Given the description of an element on the screen output the (x, y) to click on. 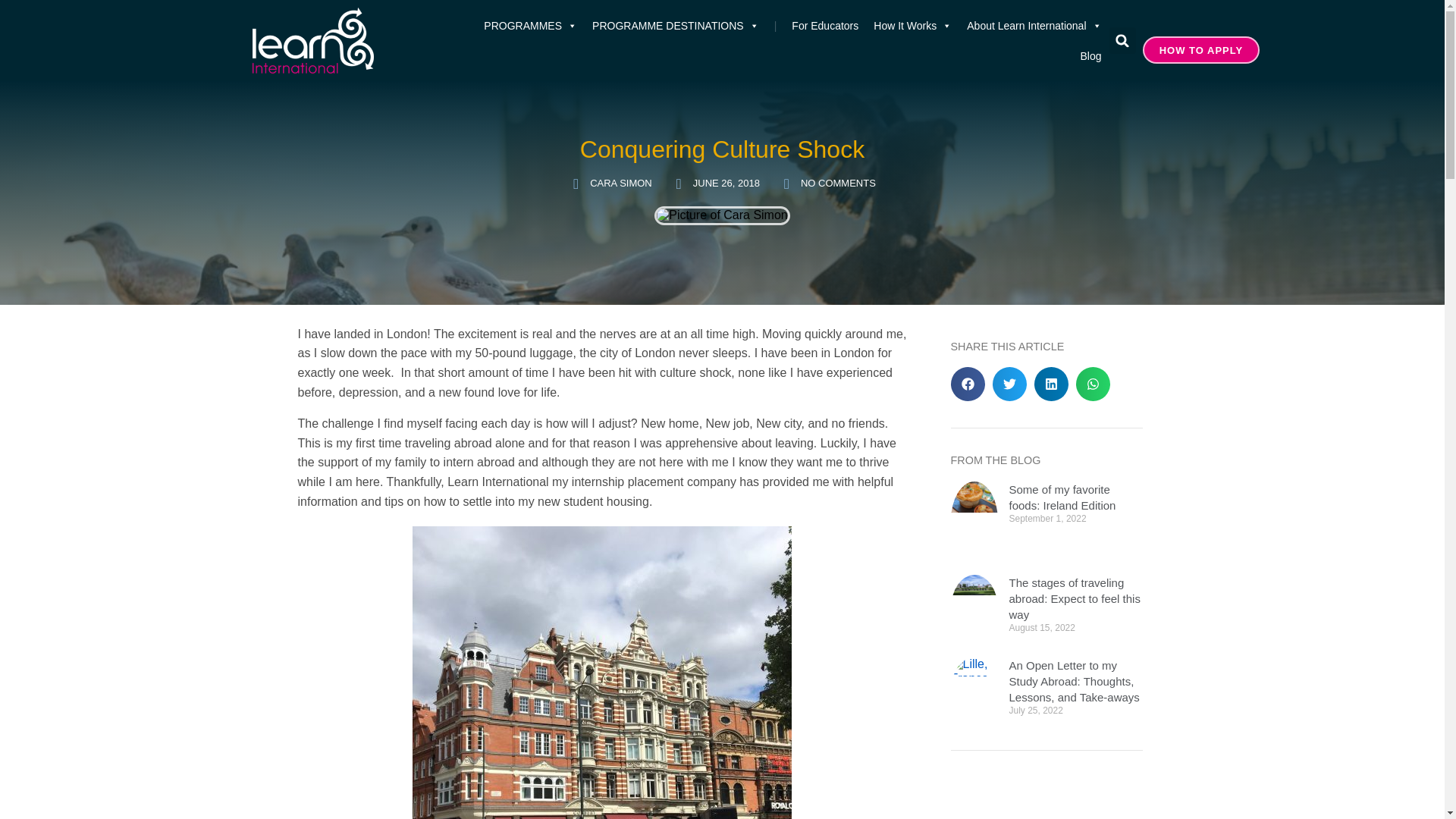
For Educators (825, 25)
About Learn International (1033, 25)
PROGRAMME DESTINATIONS (676, 25)
PROGRAMMES (530, 25)
London Intern building and traffic (602, 672)
How It Works (912, 25)
